Given the description of an element on the screen output the (x, y) to click on. 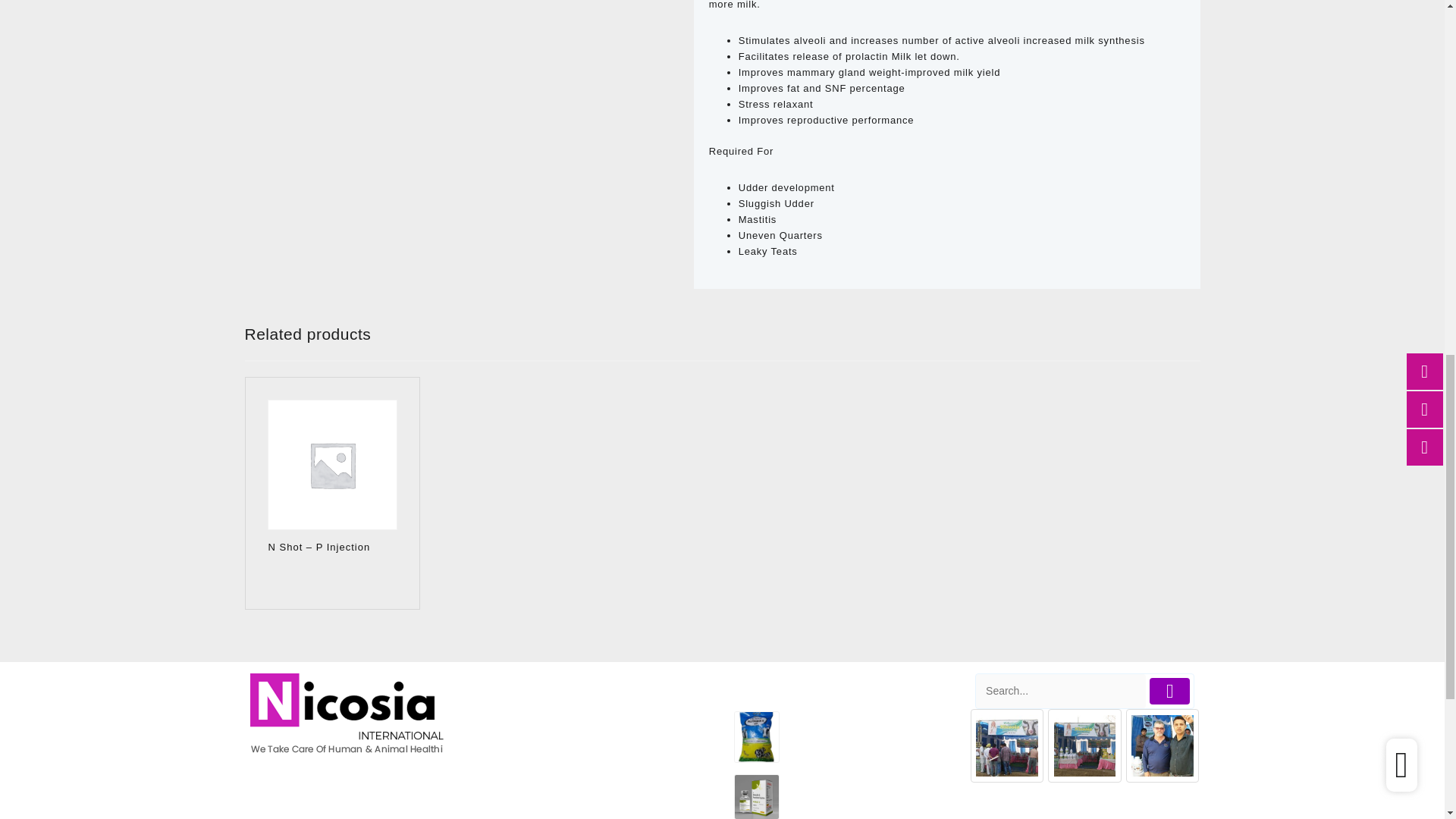
Search (1060, 691)
